Given the description of an element on the screen output the (x, y) to click on. 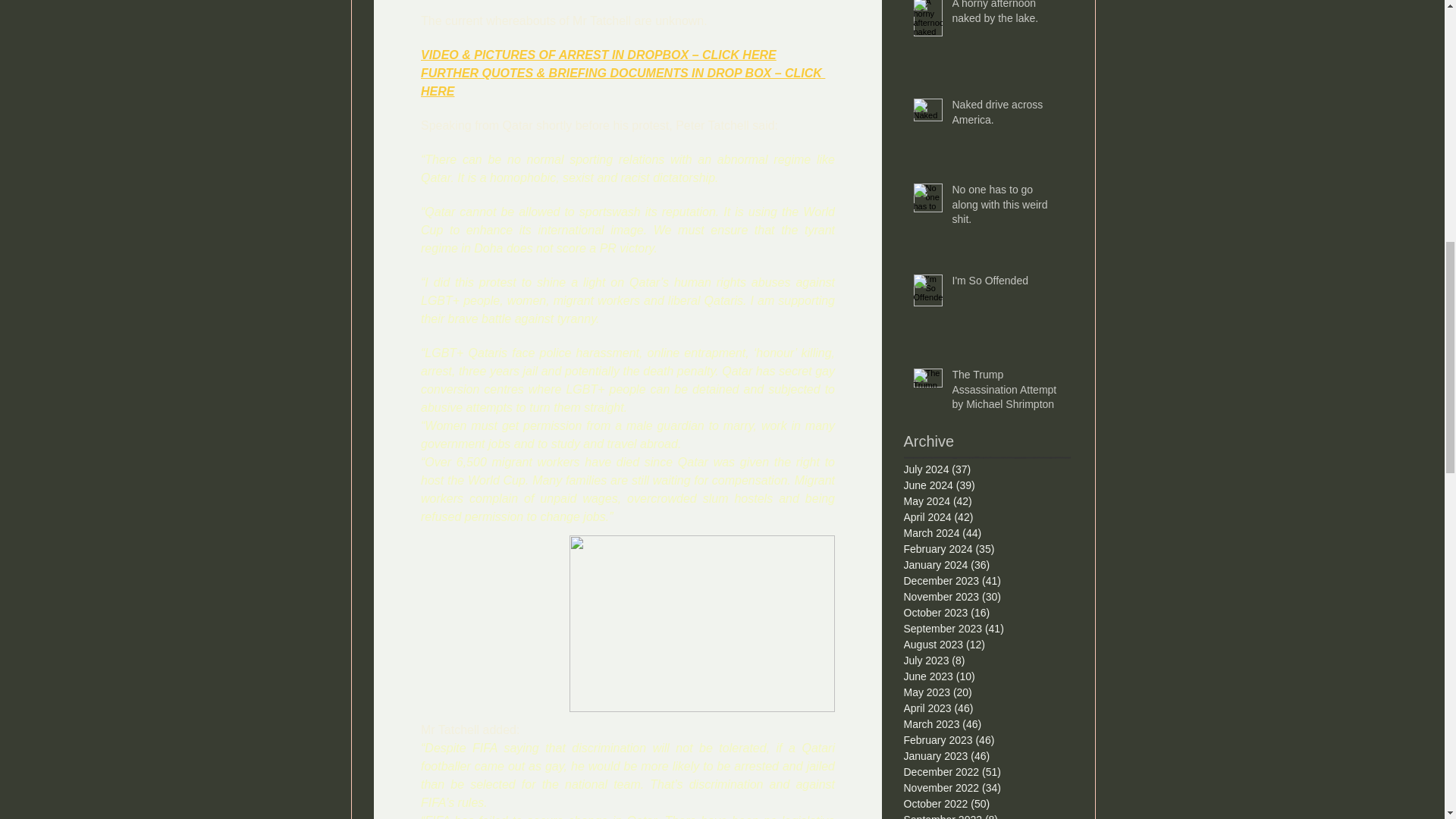
A horny afternoon naked by the lake. (1006, 15)
No one has to go along with this weird shit. (1006, 207)
I'm So Offended (1006, 283)
Naked drive across America. (1006, 115)
The Trump Assassination Attempt by Michael Shrimpton (1006, 392)
